Given the description of an element on the screen output the (x, y) to click on. 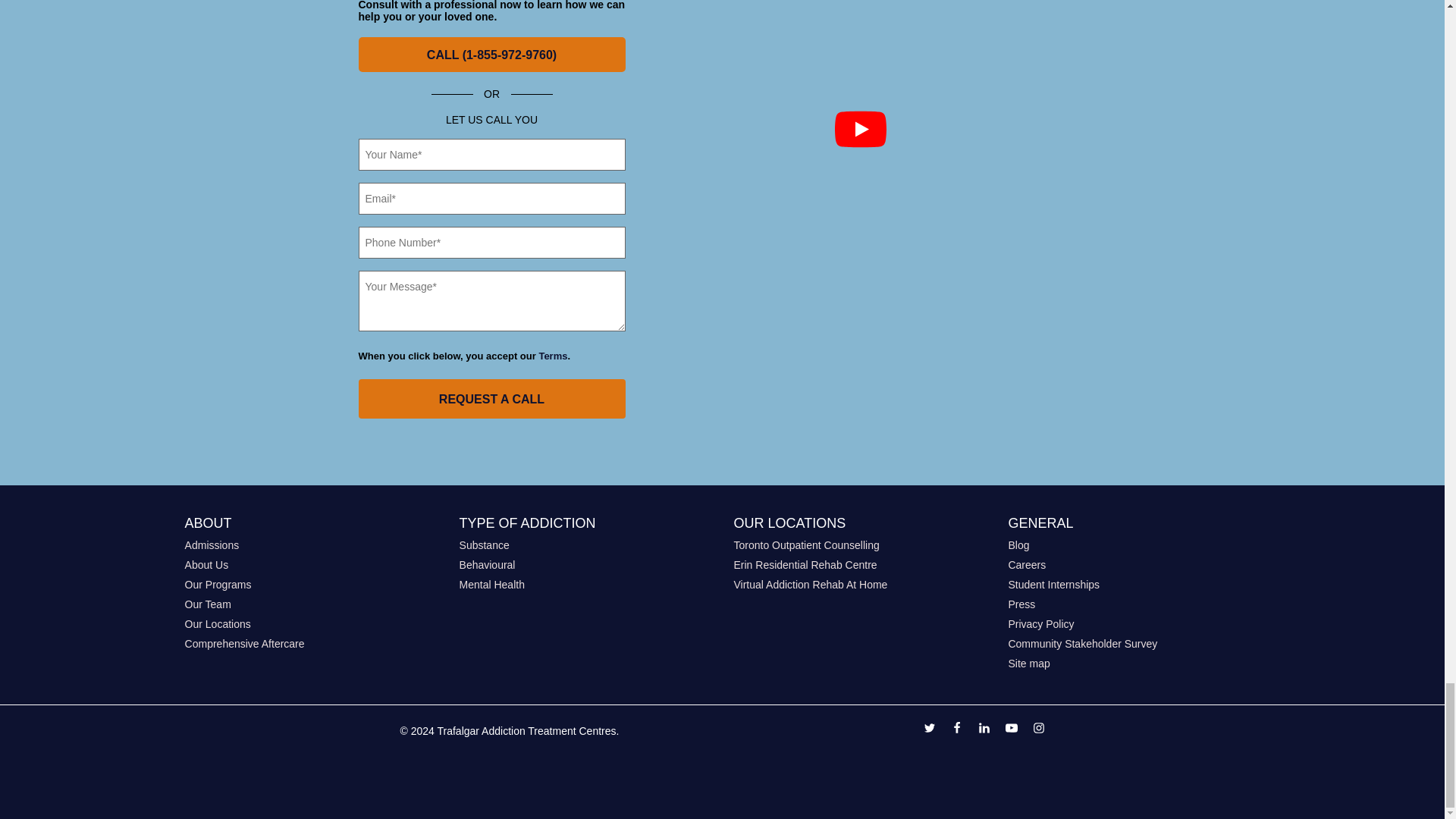
linkedin (984, 729)
facebook (956, 729)
youtube (1011, 729)
twitter (929, 729)
instagram (1038, 729)
